Given the description of an element on the screen output the (x, y) to click on. 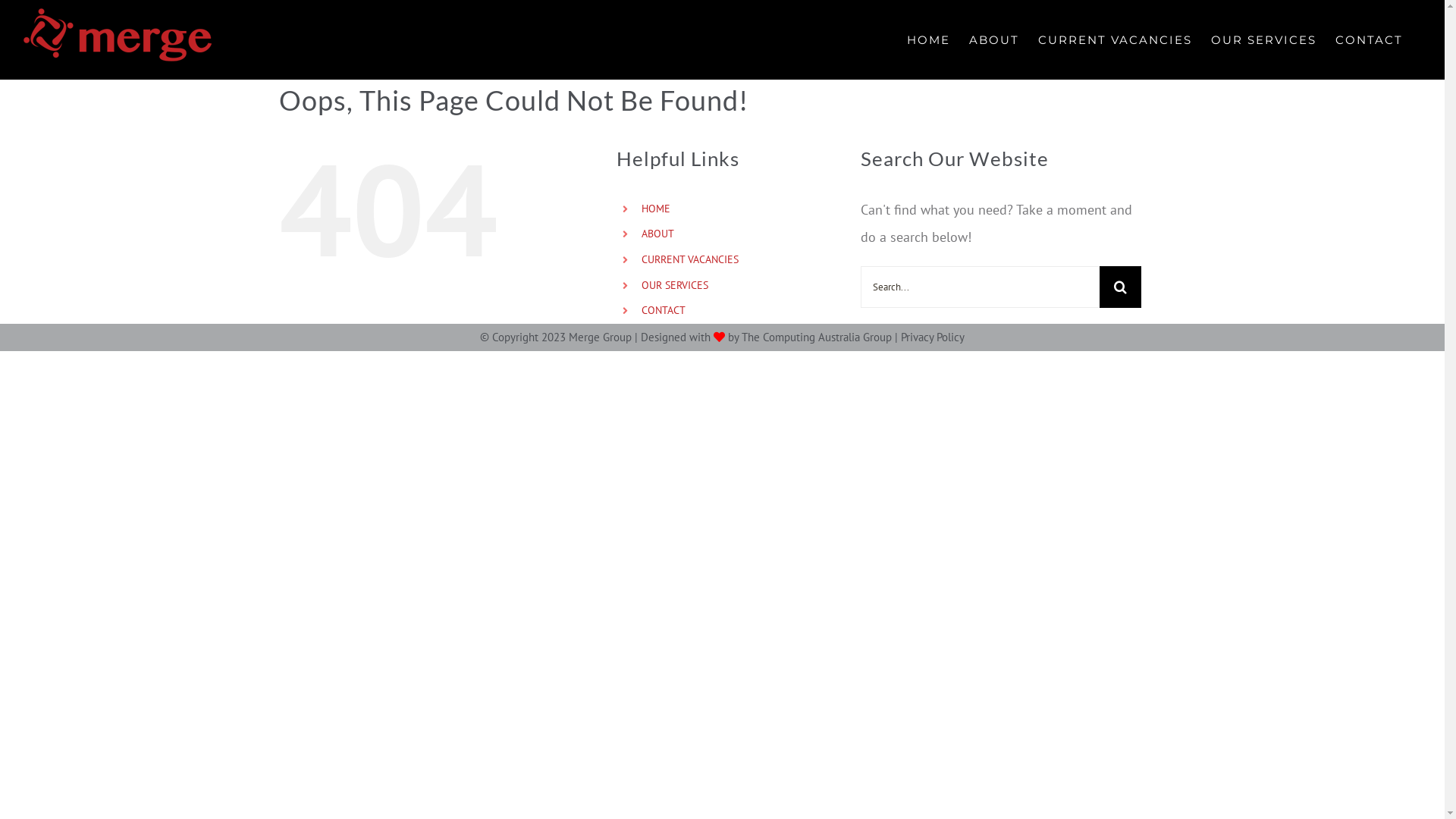
CONTACT Element type: text (663, 309)
OUR SERVICES Element type: text (1263, 39)
Privacy Policy Element type: text (932, 336)
HOME Element type: text (655, 208)
OUR SERVICES Element type: text (674, 284)
CONTACT Element type: text (1368, 39)
CURRENT VACANCIES Element type: text (1115, 39)
HOME Element type: text (928, 39)
CURRENT VACANCIES Element type: text (689, 259)
ABOUT Element type: text (994, 39)
ABOUT Element type: text (657, 233)
The Computing Australia Group Element type: text (816, 336)
